Given the description of an element on the screen output the (x, y) to click on. 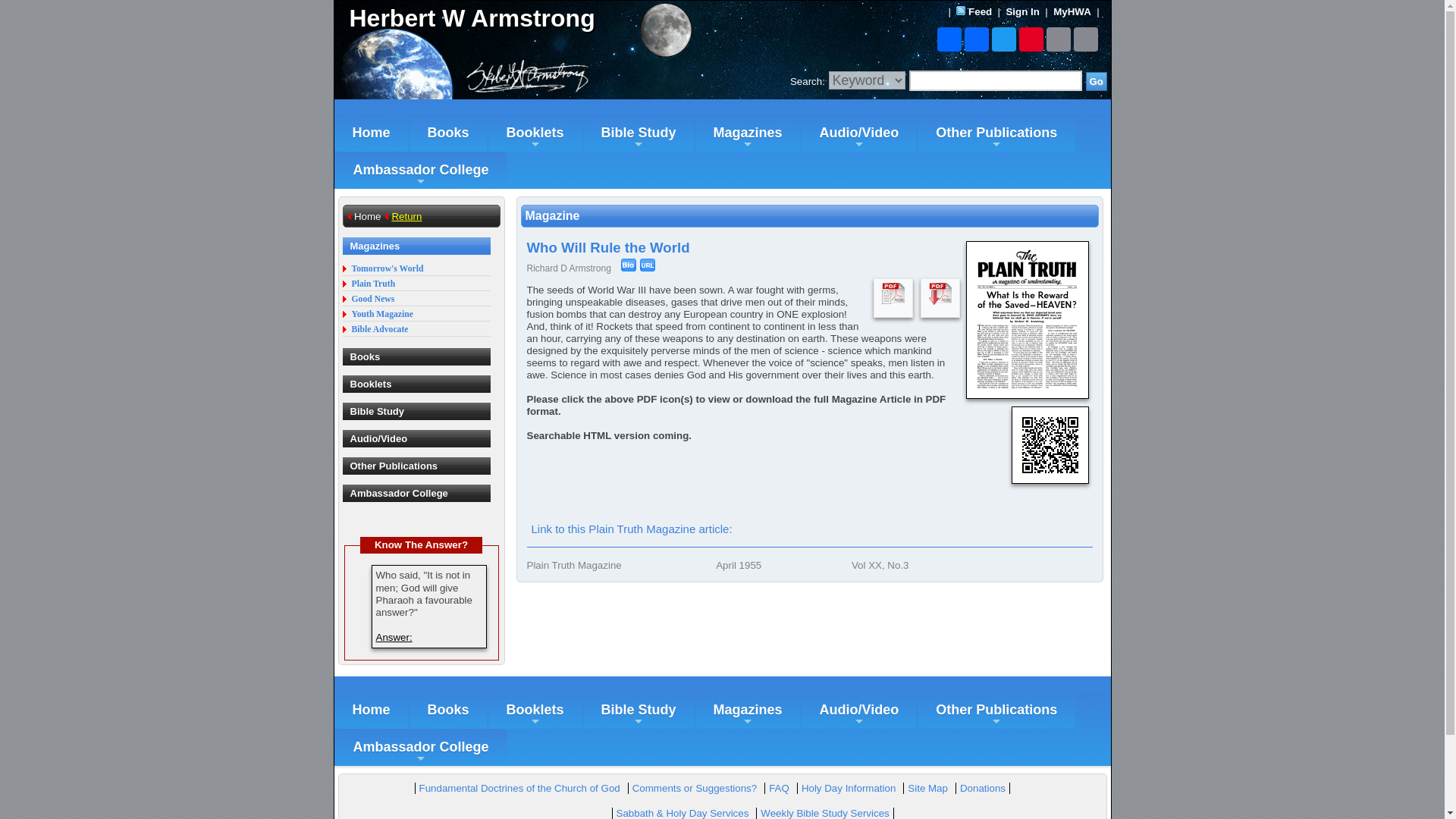
Print (1085, 39)
Bible Study (638, 132)
Go (1096, 81)
Feed (979, 11)
Twitter (1003, 39)
Facebook (976, 39)
Click down arrow to see all 3 search options. (866, 80)
Home (370, 132)
MyHWA (1071, 11)
Books (448, 132)
Sign In (1022, 11)
Magazines (747, 132)
Herbert W Armstrong (528, 18)
